Given the description of an element on the screen output the (x, y) to click on. 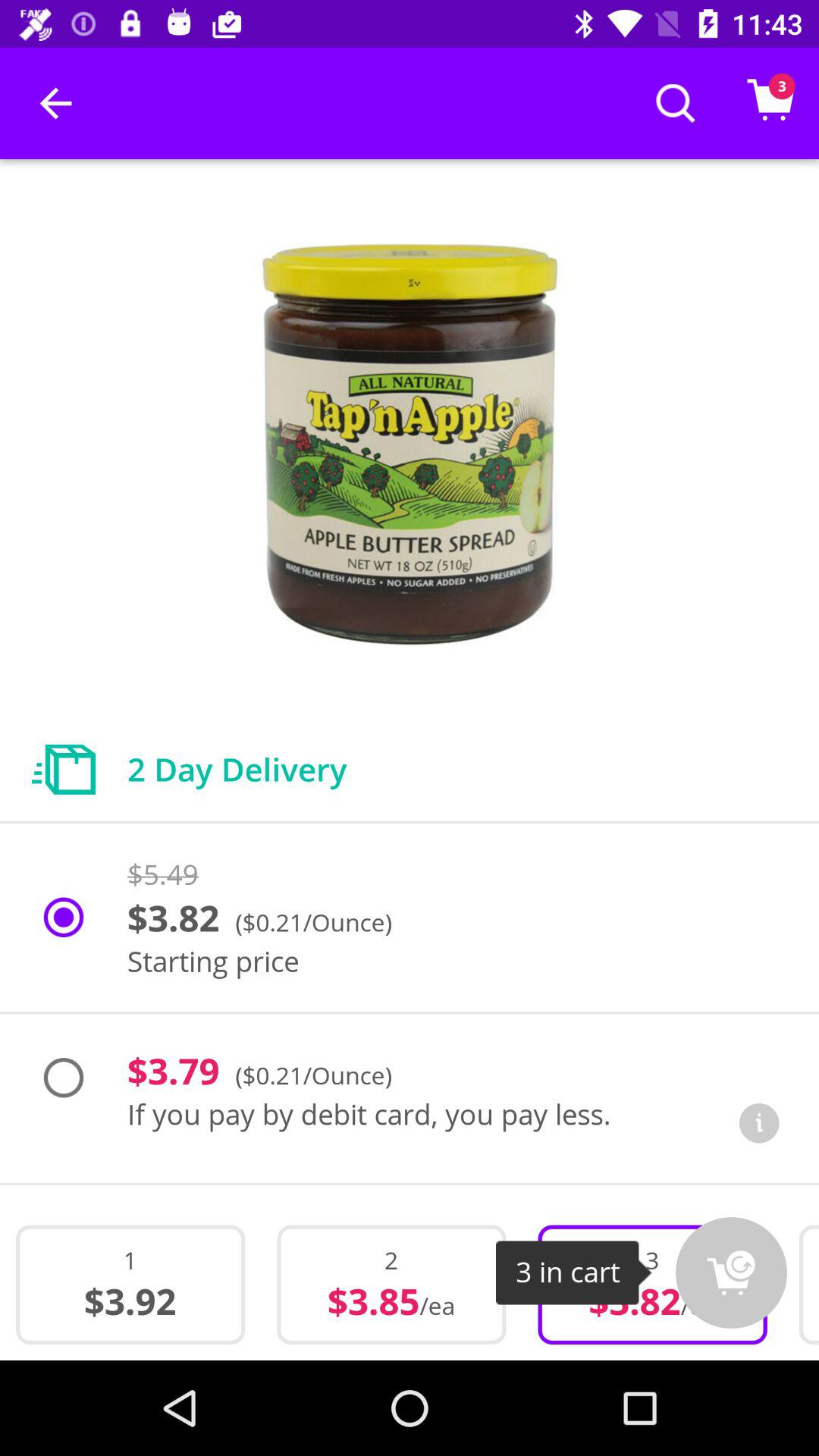
toggle information (759, 1123)
